Given the description of an element on the screen output the (x, y) to click on. 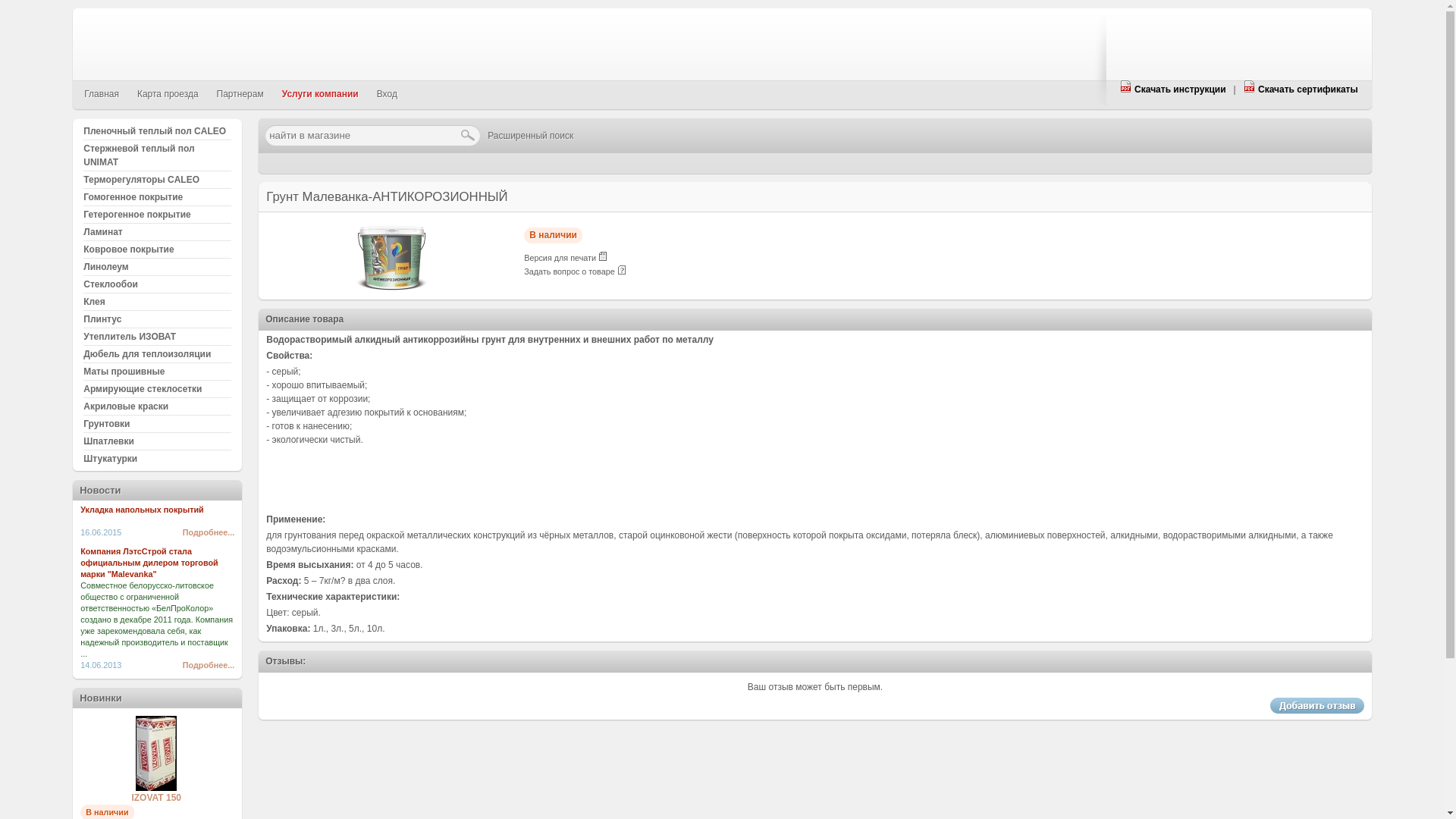
IZOVAT 150 Element type: hover (155, 787)
IZOVAT 150 Element type: text (156, 797)
